Given the description of an element on the screen output the (x, y) to click on. 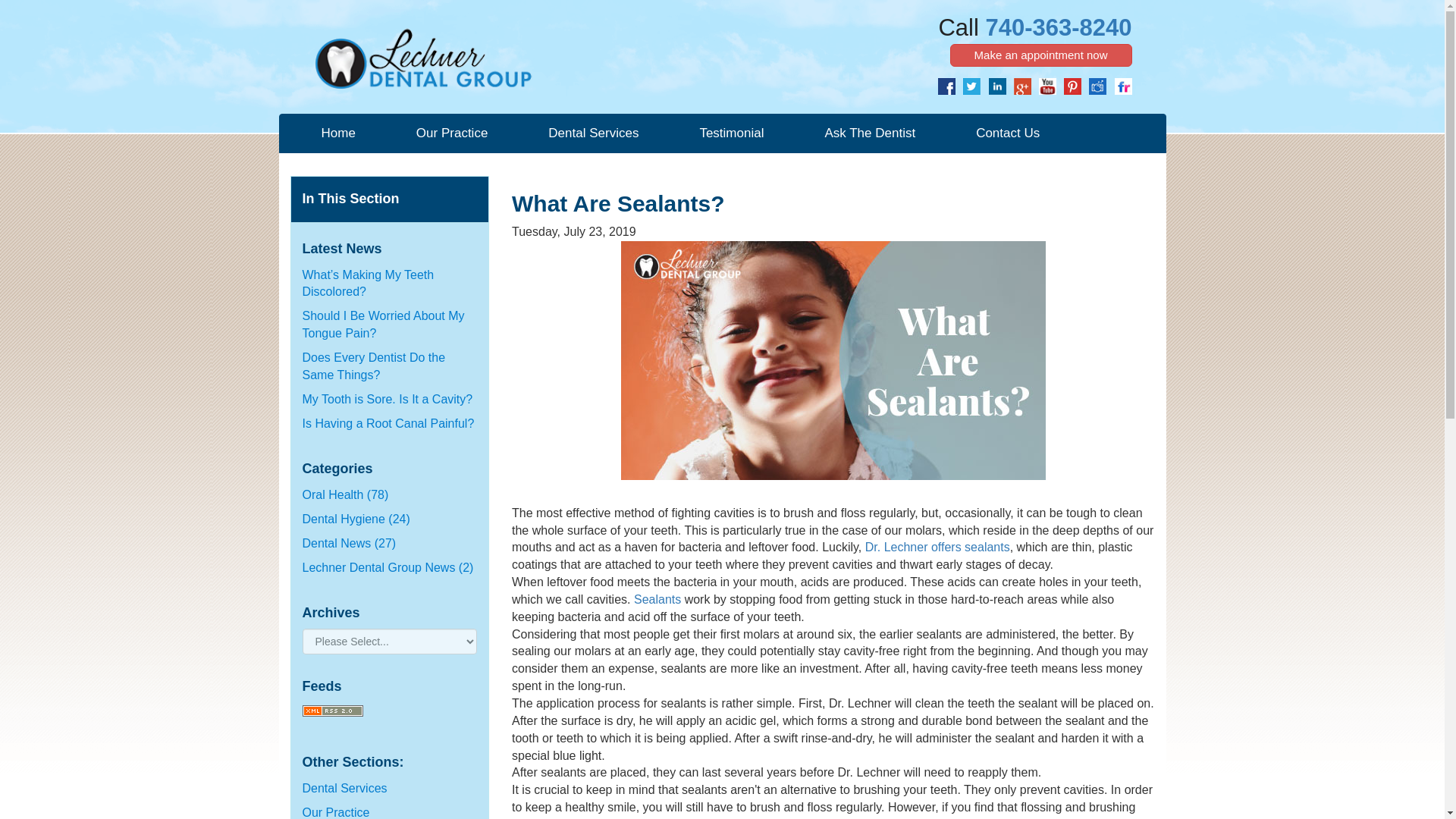
Our Practice (451, 129)
Dental Services (593, 129)
Is Having a Root Canal Painful? (387, 422)
740-363-8240 (1058, 27)
Contact Us (1007, 129)
Dr. Lechner offers sealants (937, 546)
Does Every Dentist Do the Same Things? (373, 366)
Sealants (657, 599)
Should I Be Worried About My Tongue Pain? (382, 324)
My Tooth is Sore. Is It a Cavity? (386, 399)
